Given the description of an element on the screen output the (x, y) to click on. 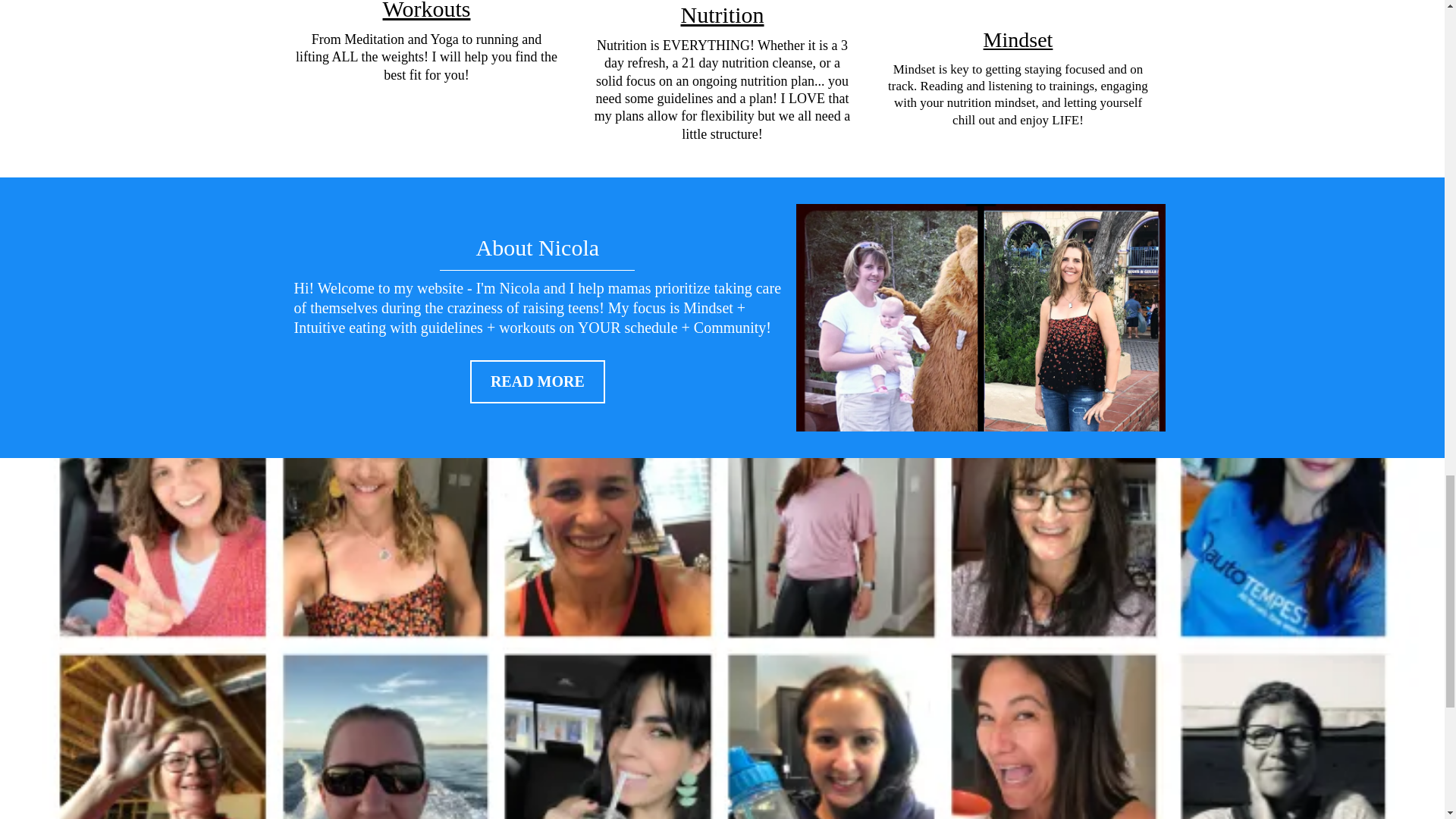
READ MORE (537, 381)
